Given the description of an element on the screen output the (x, y) to click on. 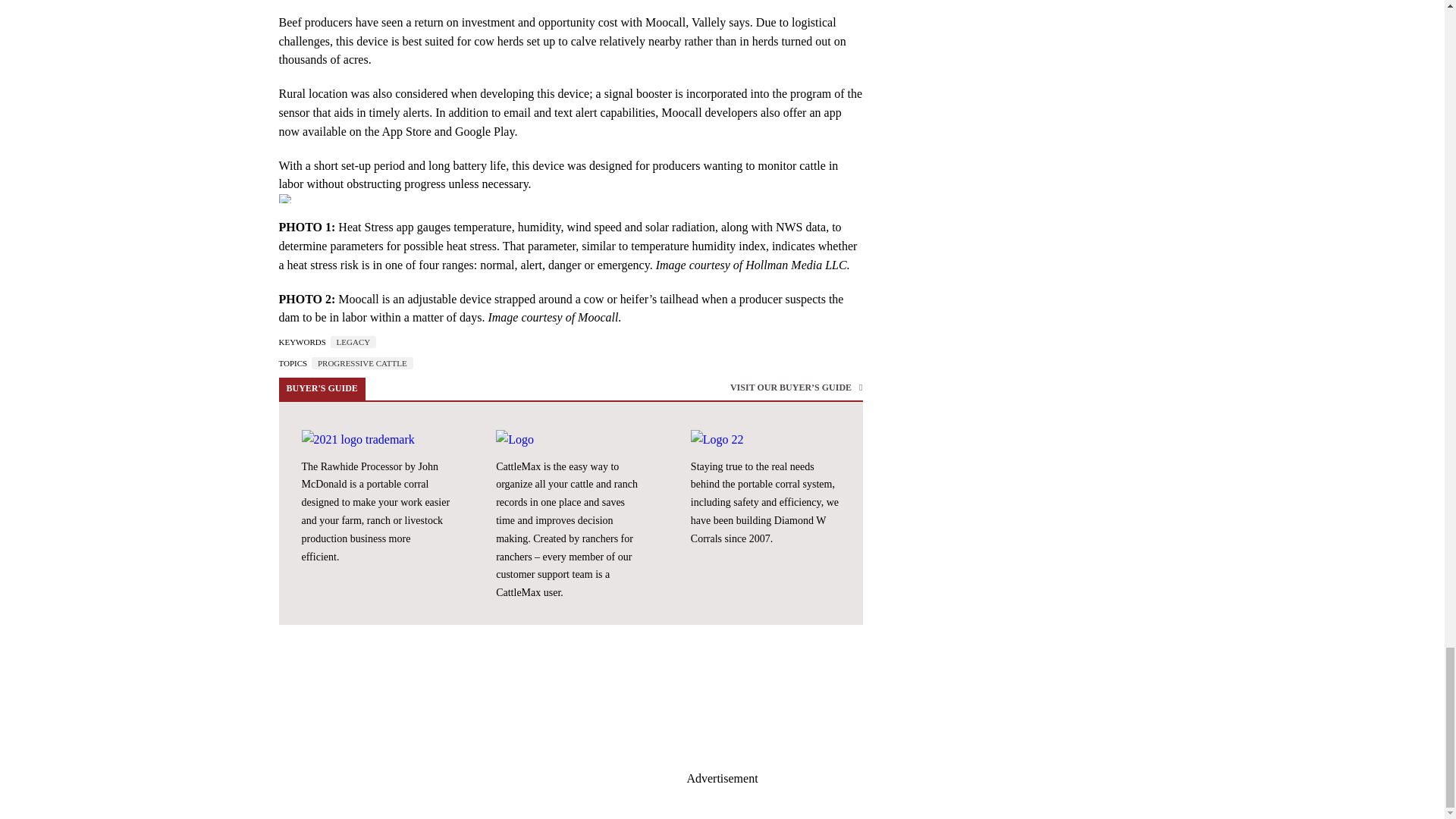
PROGRESSIVE CATTLE (362, 363)
LEGACY (353, 341)
